Given the description of an element on the screen output the (x, y) to click on. 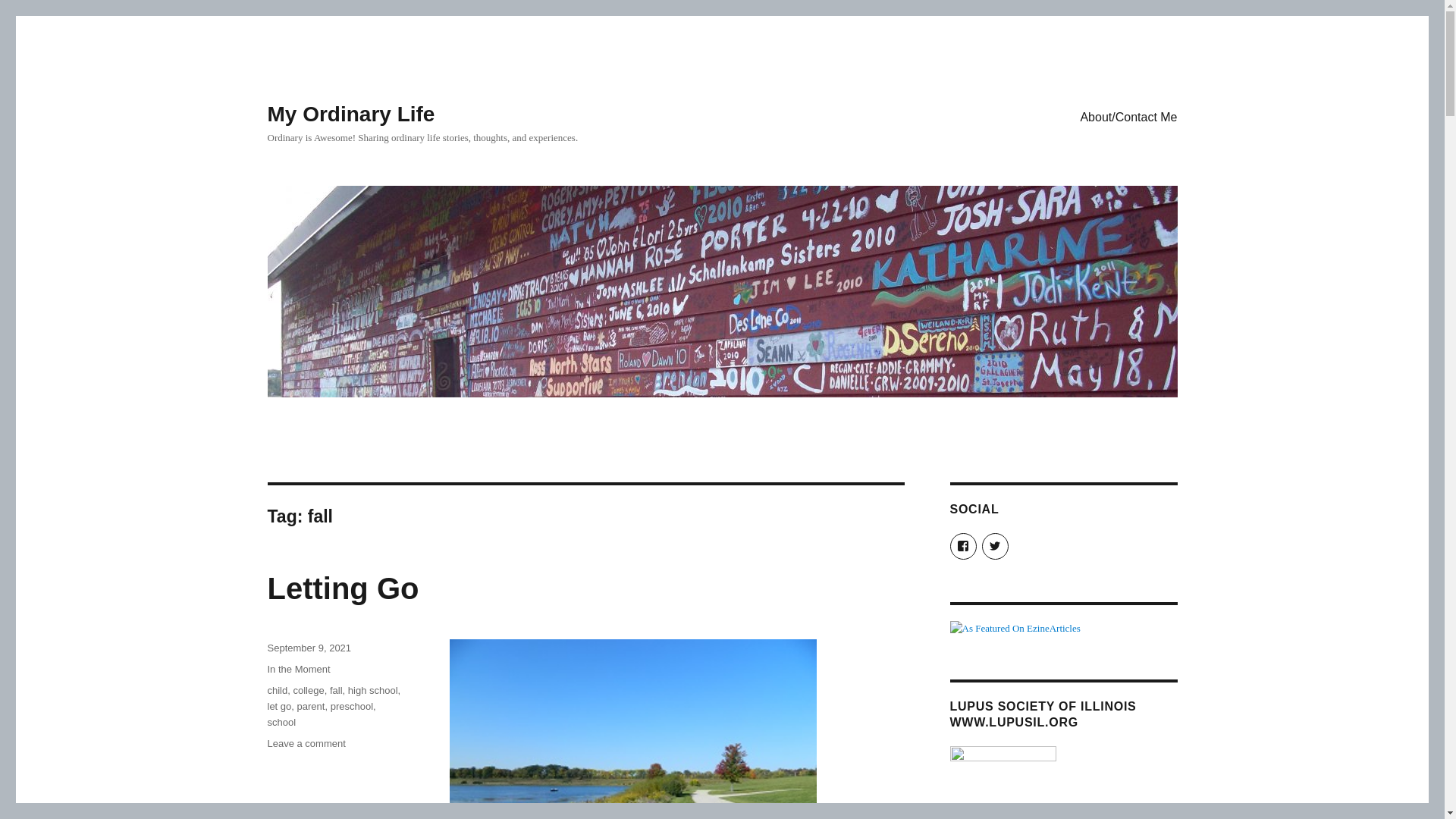
child (276, 690)
preschool (351, 706)
September 9, 2021 (305, 743)
Letting Go (308, 647)
fall (342, 588)
high school (336, 690)
parent (372, 690)
In the Moment (310, 706)
school (298, 668)
let go (280, 722)
college (278, 706)
My Ordinary Life (307, 690)
